Given the description of an element on the screen output the (x, y) to click on. 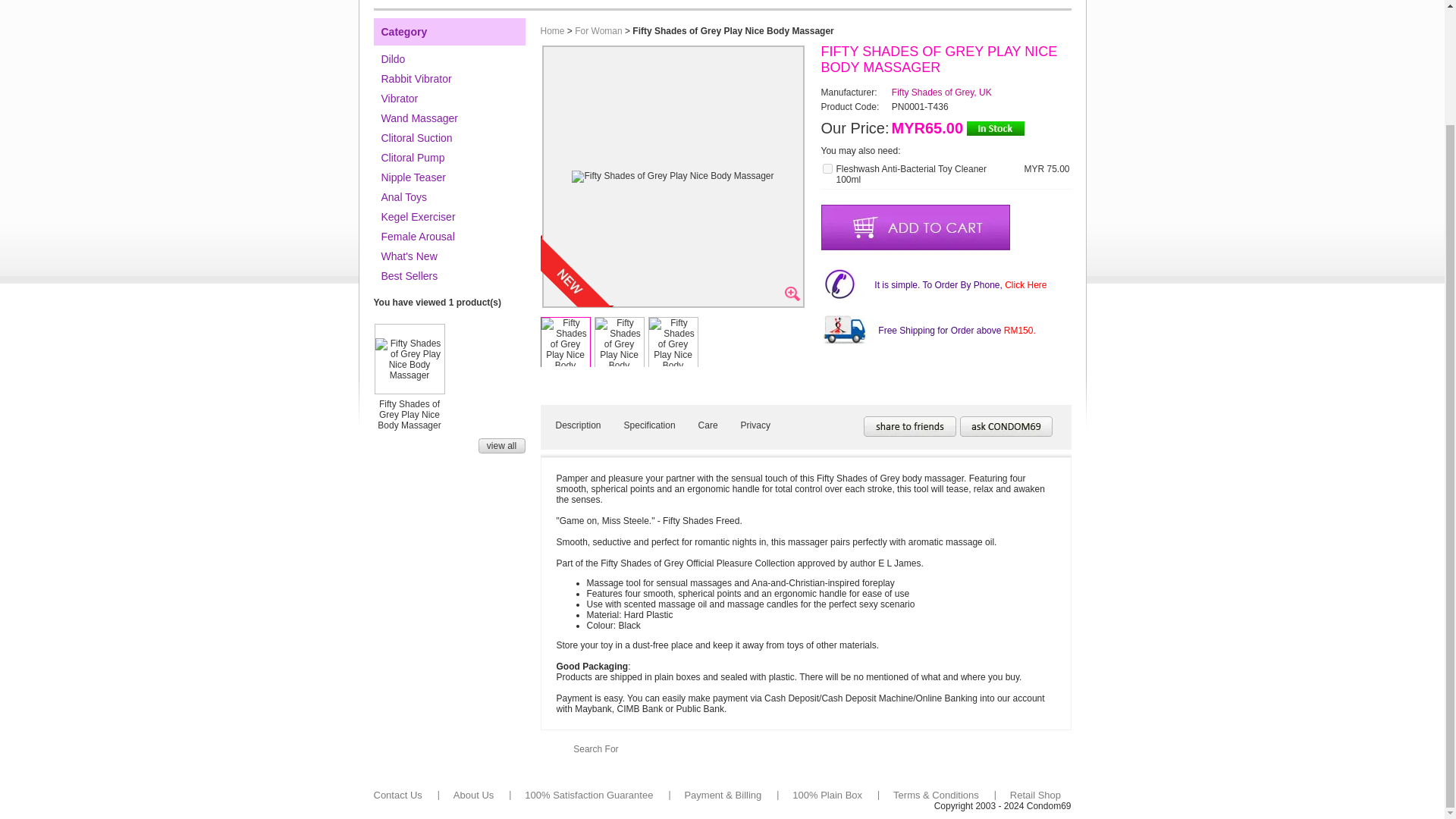
FOR MAN (416, 4)
on (826, 168)
FOR WOMAN (498, 4)
FOR COUPLE (590, 4)
FOR MAN (416, 4)
